Given the description of an element on the screen output the (x, y) to click on. 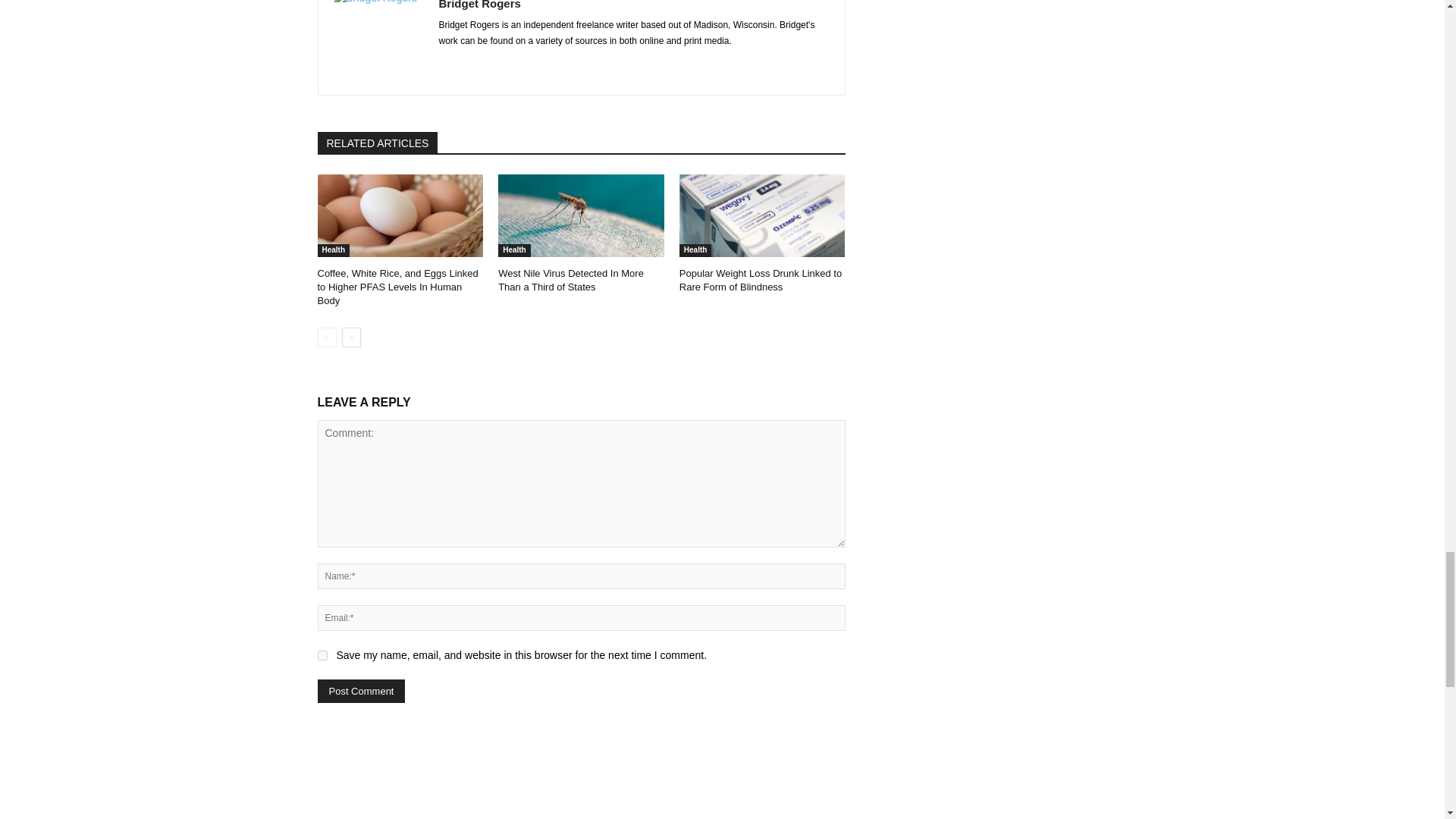
Post Comment (360, 690)
yes (321, 655)
